Given the description of an element on the screen output the (x, y) to click on. 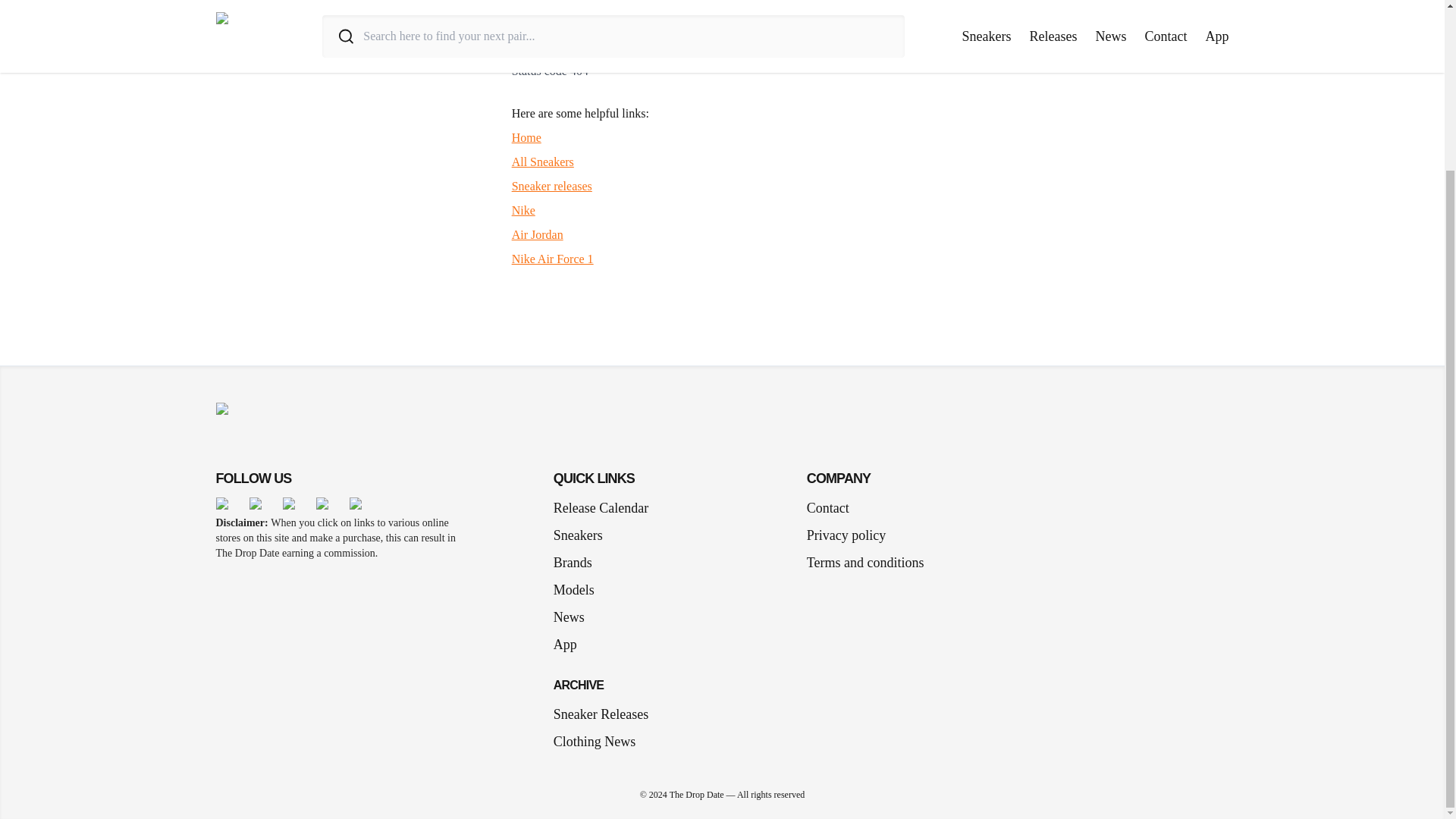
Home (526, 137)
Nike (523, 210)
Sneaker releases (552, 185)
Clothing News (594, 741)
App (571, 644)
Contact (827, 507)
Brands (578, 562)
All Sneakers (542, 161)
Nike Air Force 1 (553, 258)
Terms and conditions (865, 562)
Models (580, 589)
Air Jordan (537, 234)
Sneakers (583, 535)
Release Calendar (600, 507)
Privacy policy (845, 535)
